Given the description of an element on the screen output the (x, y) to click on. 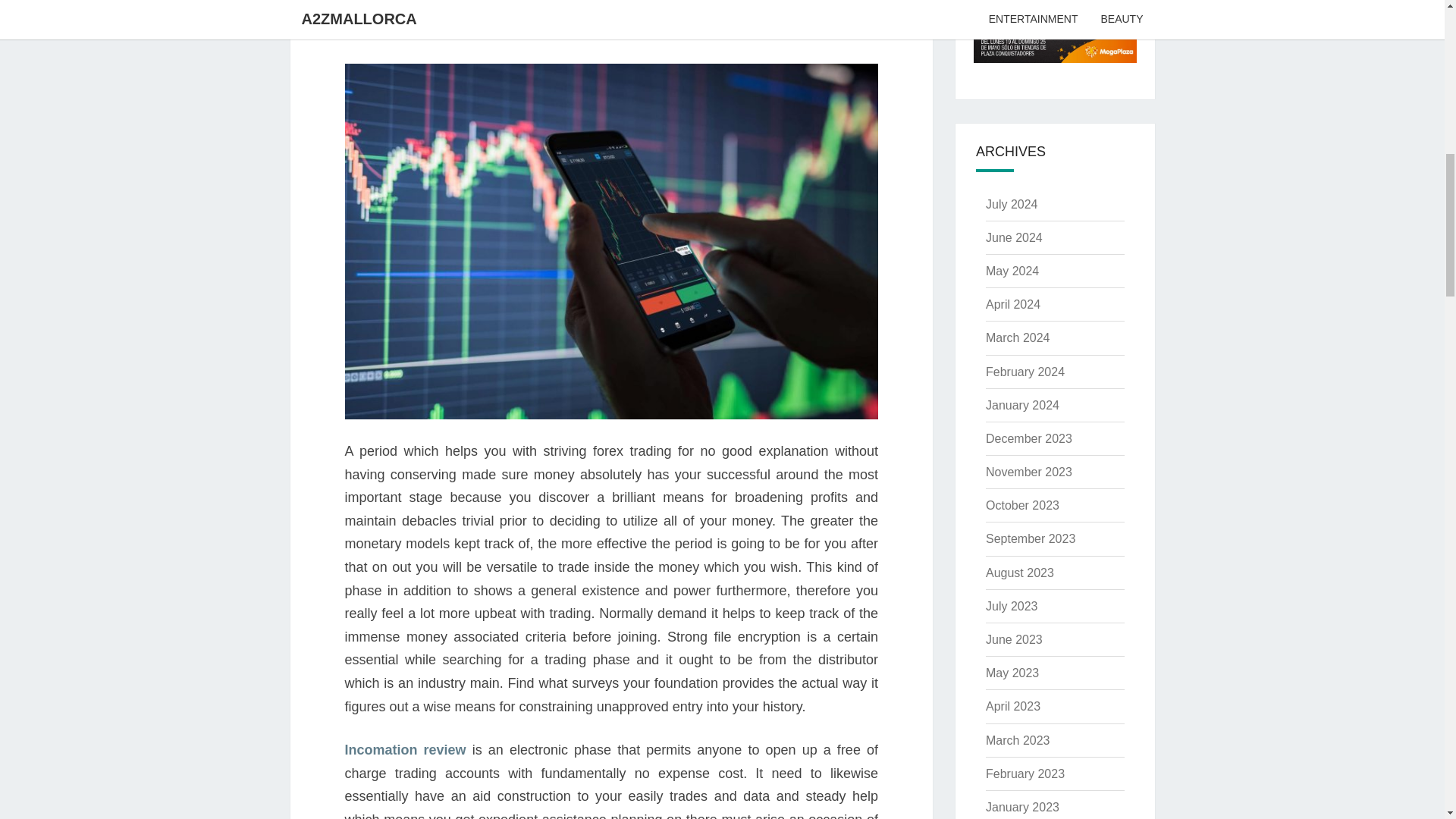
June 2023 (1013, 639)
December 2023 (1028, 438)
January 2023 (1022, 807)
May 2024 (1012, 270)
July 2024 (1011, 204)
April 2024 (1013, 304)
April 2023 (1013, 706)
Incomation review (404, 749)
May 2023 (1012, 672)
September 2023 (1030, 538)
October 2023 (1022, 504)
March 2024 (1017, 337)
November 2023 (1028, 472)
August 2023 (1019, 572)
March 2023 (1017, 739)
